Given the description of an element on the screen output the (x, y) to click on. 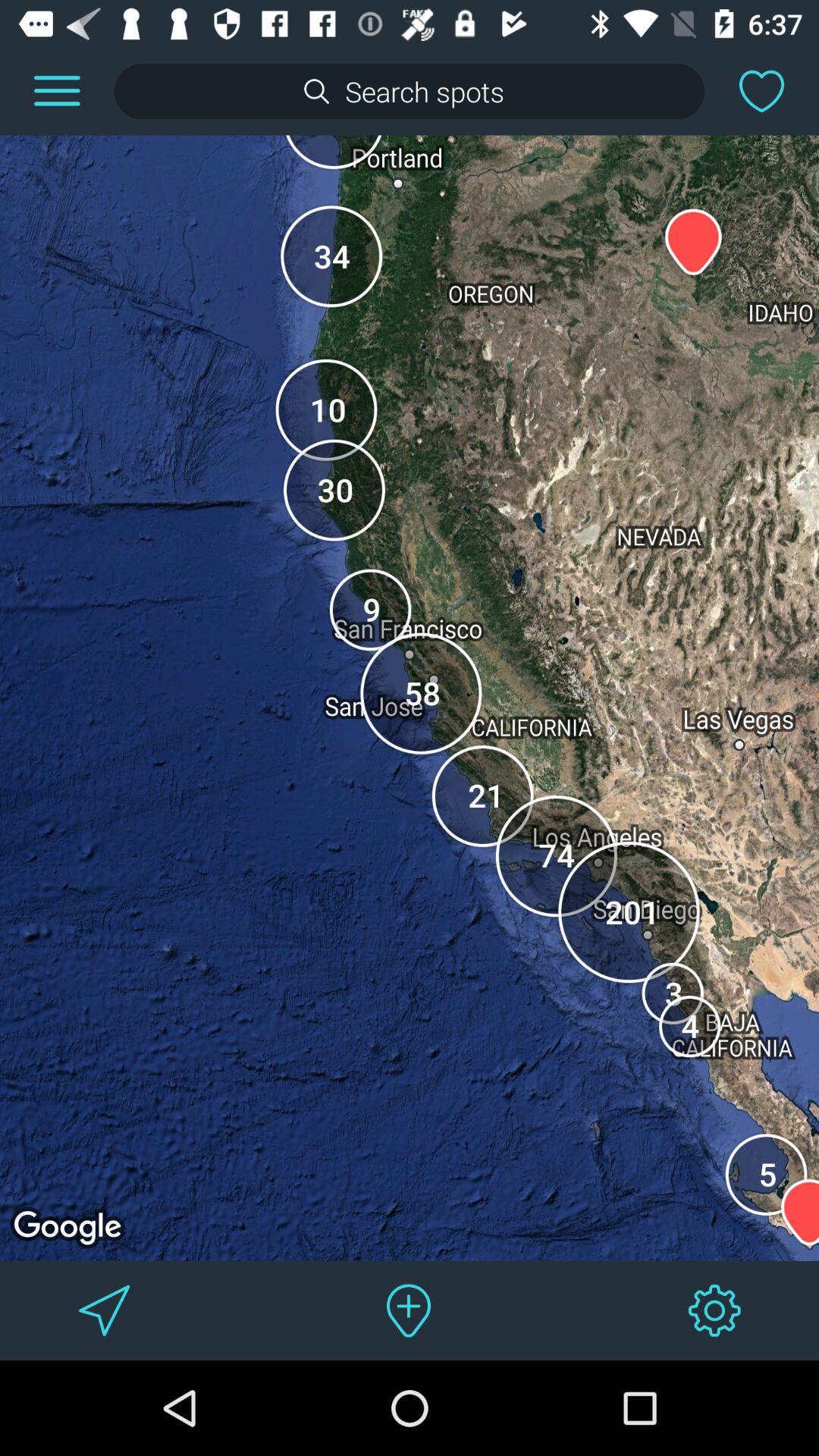
favorite this area (761, 91)
